Given the description of an element on the screen output the (x, y) to click on. 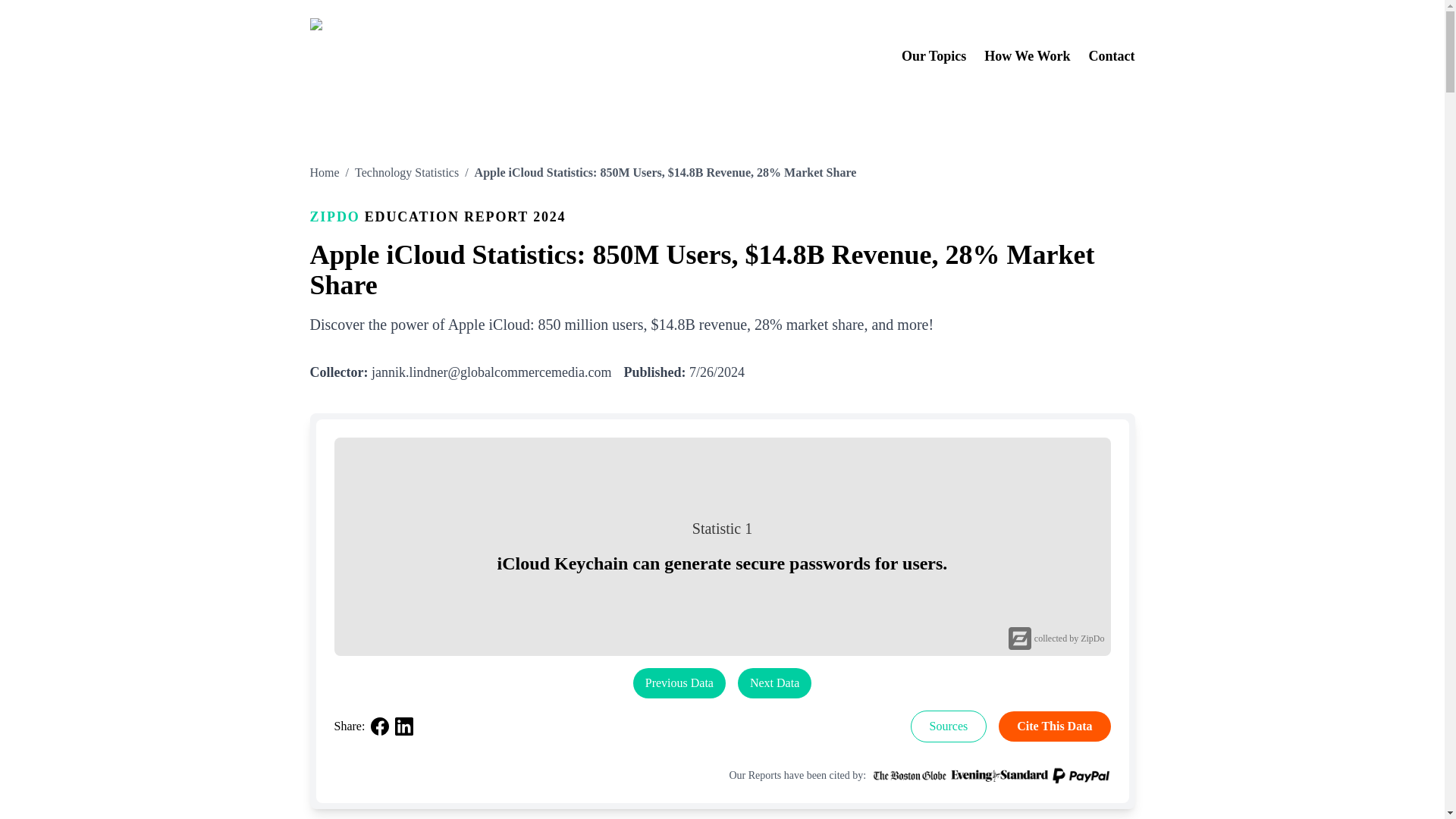
Contact (1112, 55)
Technology Statistics (406, 172)
Sources (949, 726)
Previous Data (679, 682)
Our Topics (933, 55)
Technology Statistics (406, 172)
Next Data (774, 682)
Home (323, 172)
How We Work (1027, 55)
Home (323, 172)
Cite This Data (1053, 726)
